Given the description of an element on the screen output the (x, y) to click on. 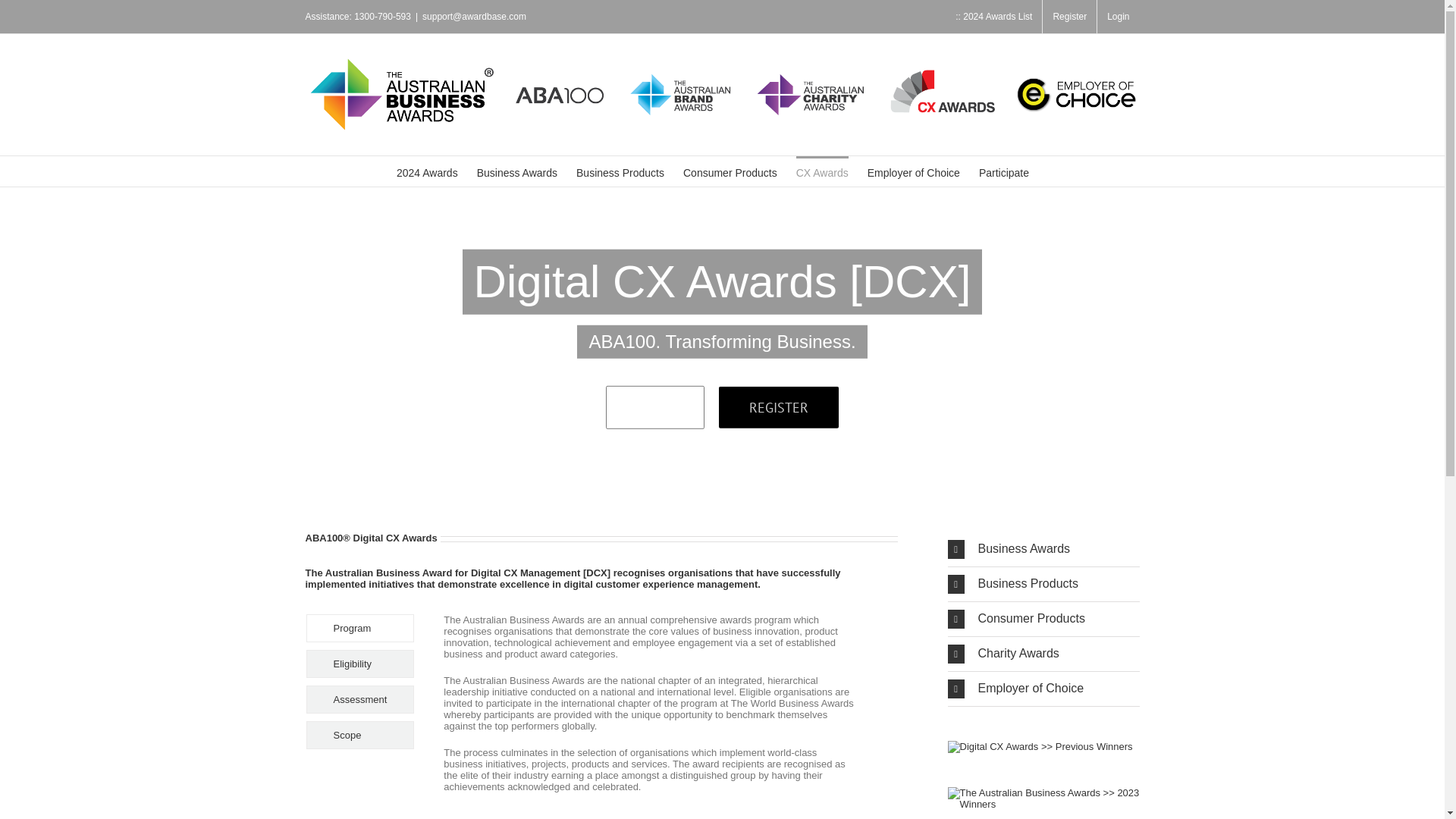
Business Products Element type: text (1043, 584)
Business Products Element type: text (620, 171)
CX Awards Element type: text (822, 171)
Employer of Choice Element type: text (913, 171)
Consumer Products Element type: text (1043, 619)
Program Element type: text (360, 628)
Employer of Choice Element type: text (1043, 688)
Charity Awards Element type: text (1043, 654)
2024 Awards Element type: text (427, 171)
Participate Element type: text (1004, 171)
support@awardbase.com Element type: text (474, 16)
Consumer Products Element type: text (730, 171)
Business Awards Element type: text (1043, 549)
Login Element type: text (1118, 16)
Business Awards Element type: text (516, 171)
LOGIN Element type: text (654, 407)
Eligibility Element type: text (360, 663)
Register Element type: text (1069, 16)
REGISTER Element type: text (778, 407)
:: 2024 Awards List Element type: text (993, 16)
Assessment Element type: text (360, 699)
Scope Element type: text (360, 735)
